Given the description of an element on the screen output the (x, y) to click on. 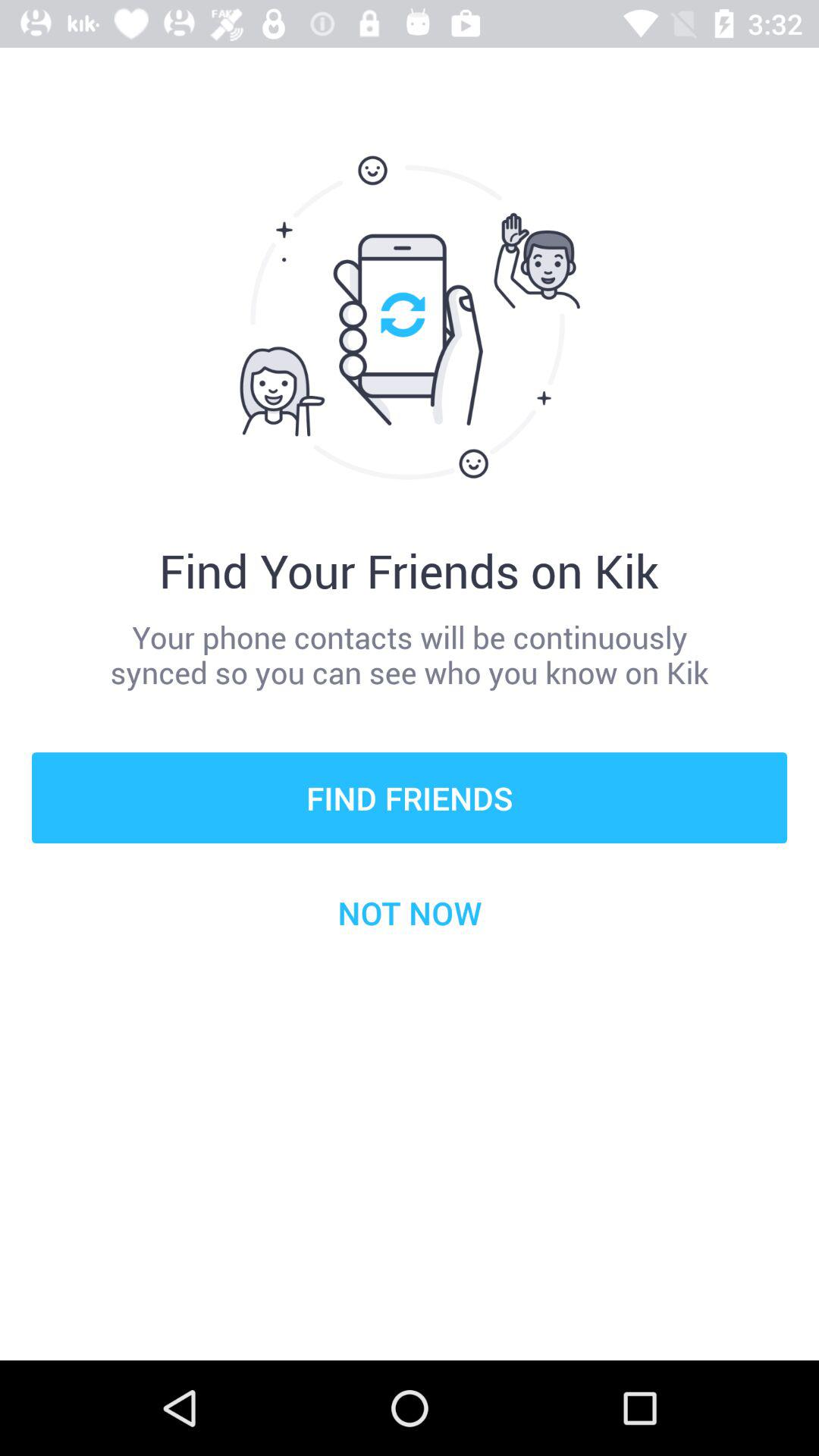
scroll to the not now (409, 912)
